Given the description of an element on the screen output the (x, y) to click on. 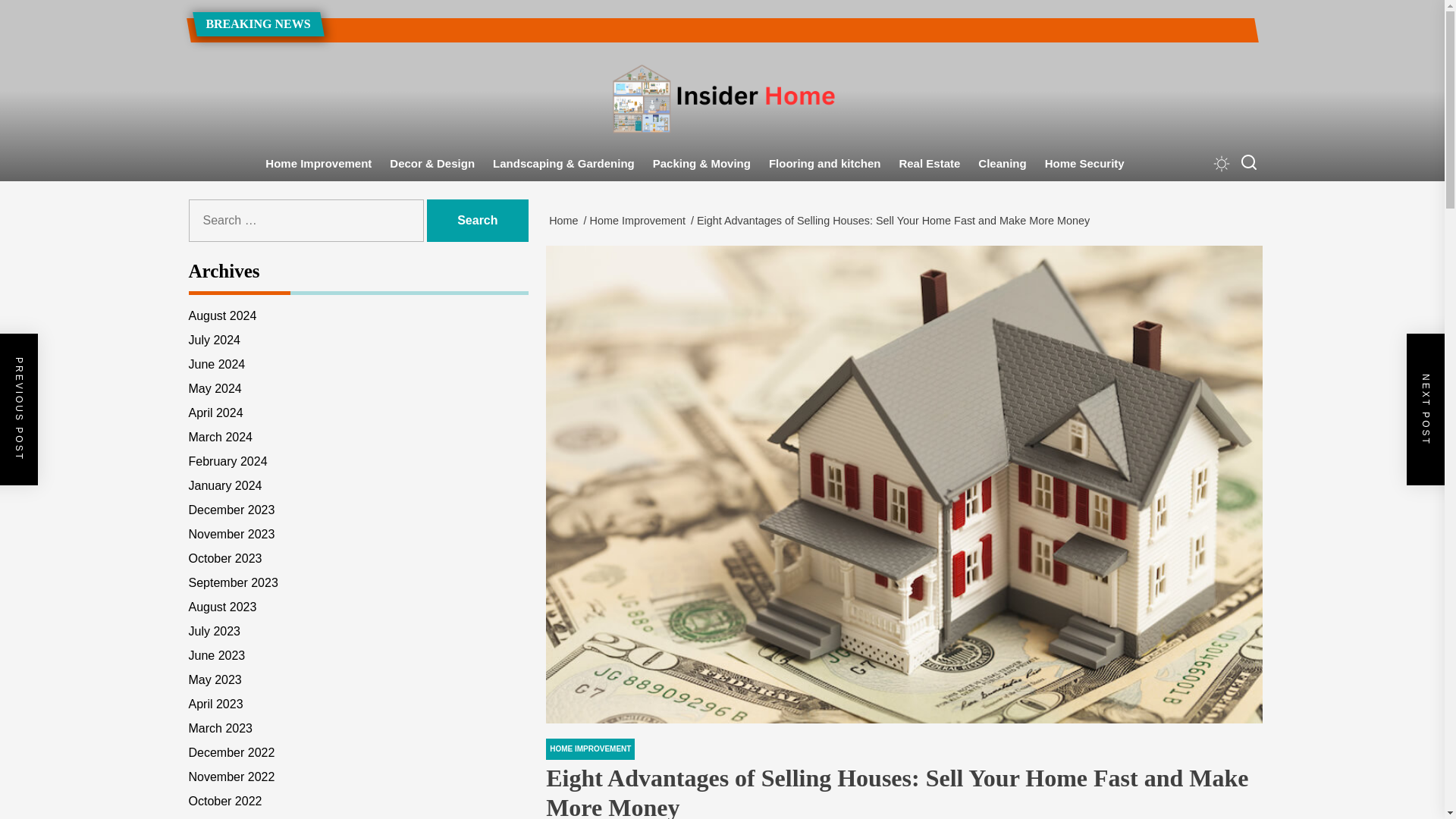
Search (477, 220)
Home Security (1084, 163)
INSIDER HOME (604, 178)
Search (477, 220)
Flooring and kitchen (824, 163)
Real Estate (929, 163)
Home Improvement (318, 163)
Home (566, 220)
Cleaning (1002, 163)
